Given the description of an element on the screen output the (x, y) to click on. 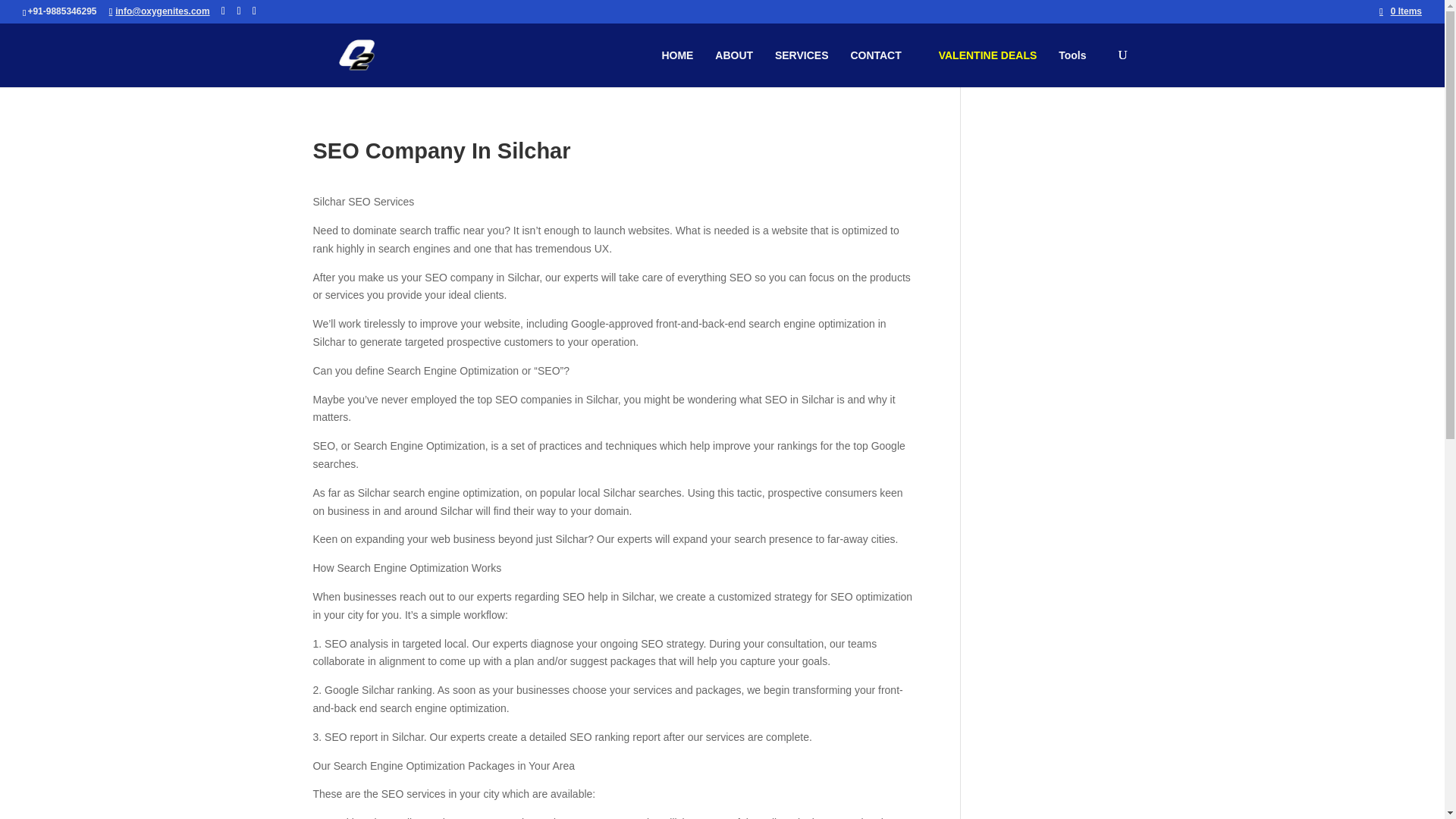
HOME (669, 55)
ABOUT (726, 55)
0 Items (1400, 10)
SERVICES (794, 55)
CONTACT (874, 55)
